Given the description of an element on the screen output the (x, y) to click on. 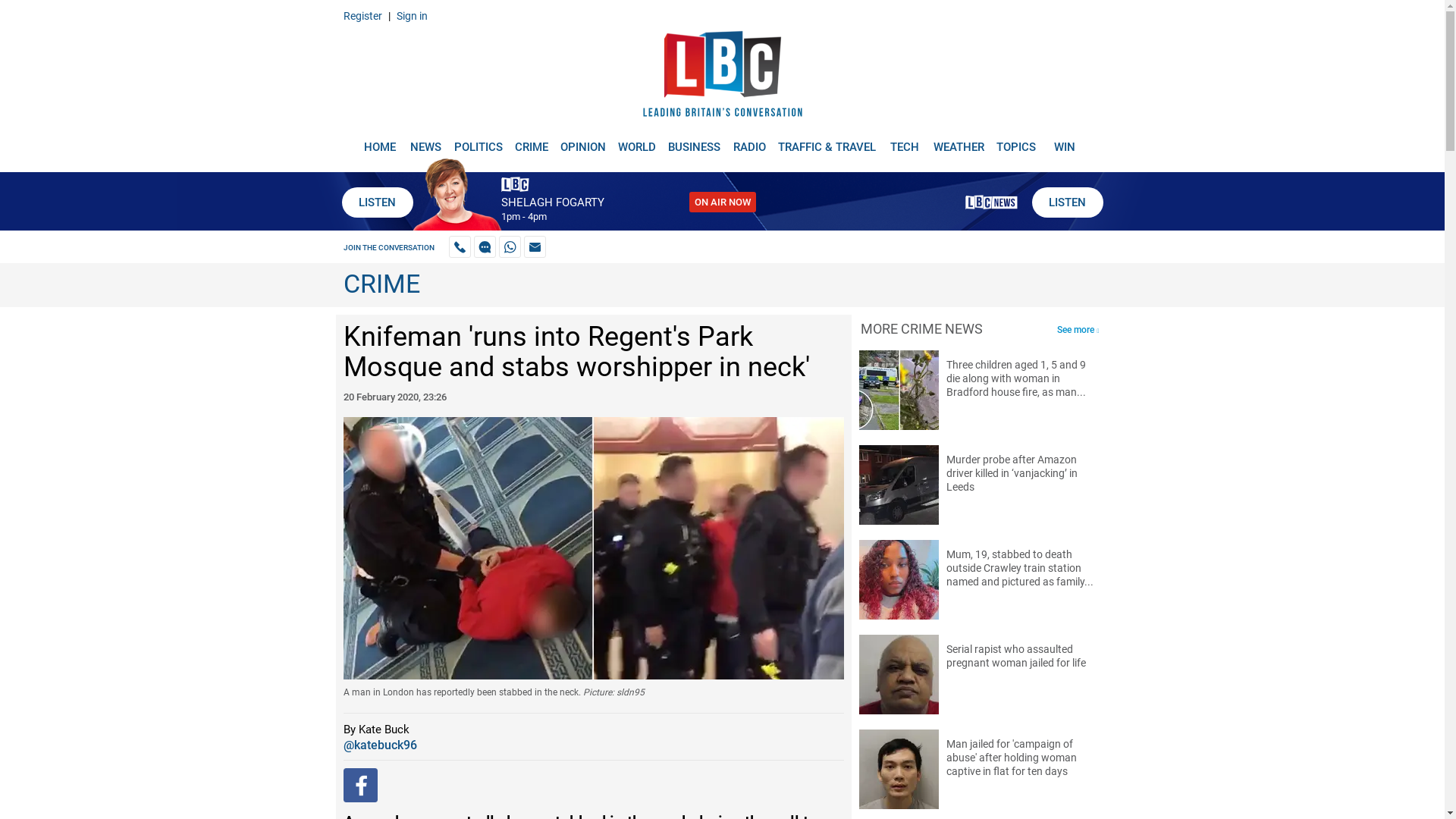
LISTEN (1066, 202)
HOME (379, 140)
TECH (904, 140)
Follow Kate Buck on X (379, 744)
POLITICS (478, 140)
WIN (1064, 140)
LBC (722, 77)
CRIME (531, 140)
RADIO (748, 140)
NEWS (425, 140)
